Given the description of an element on the screen output the (x, y) to click on. 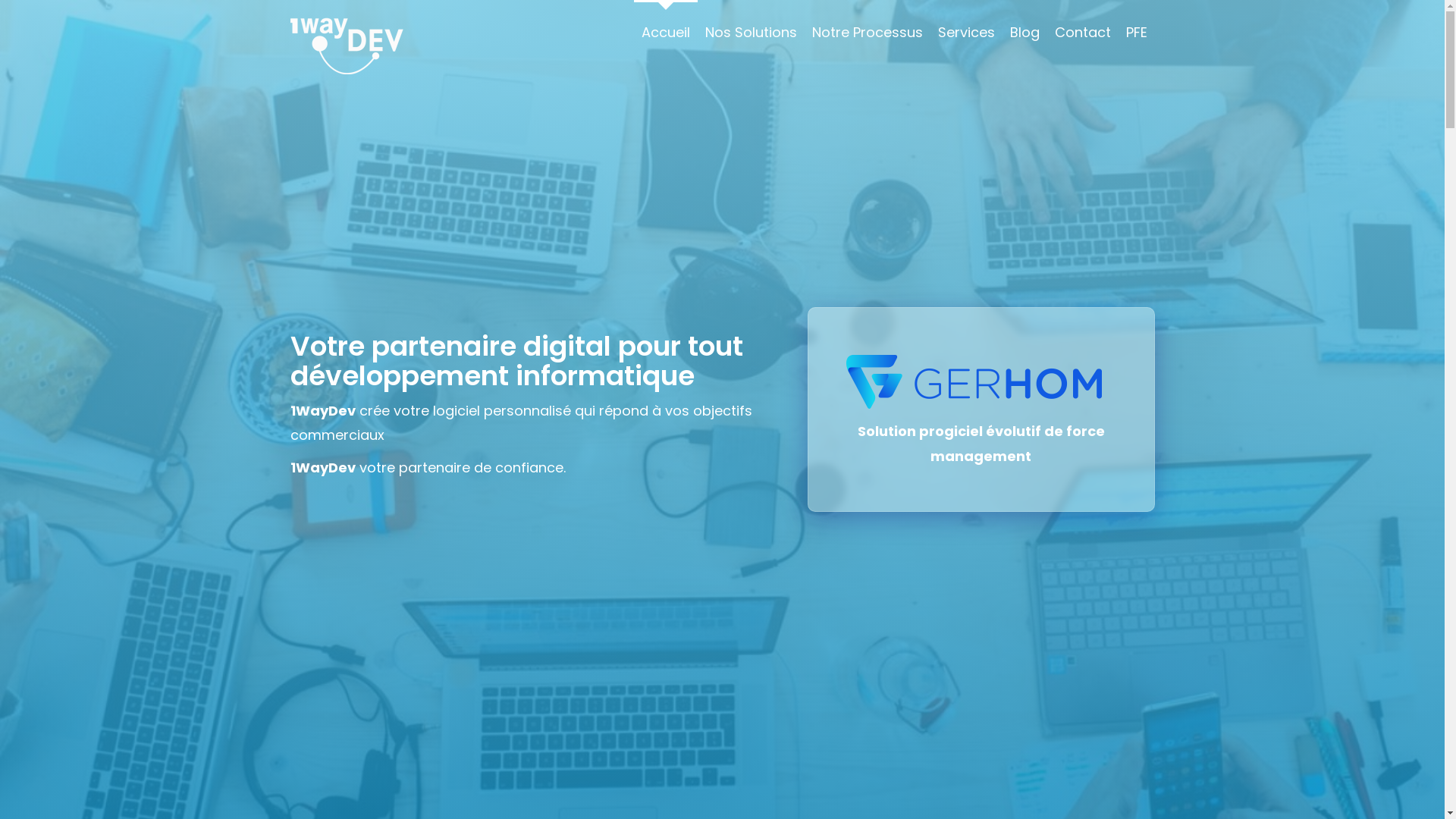
Contact Element type: text (1081, 31)
Notre Processus Element type: text (866, 31)
1waydev logo Element type: hover (346, 45)
PFE Element type: text (1135, 31)
Accueil Element type: text (665, 31)
Blog Element type: text (1024, 31)
Nos Solutions Element type: text (750, 31)
1WayDev Element type: text (321, 410)
Services Element type: text (965, 31)
mobile application login Element type: hover (980, 384)
1WayDev Element type: text (321, 467)
